Given the description of an element on the screen output the (x, y) to click on. 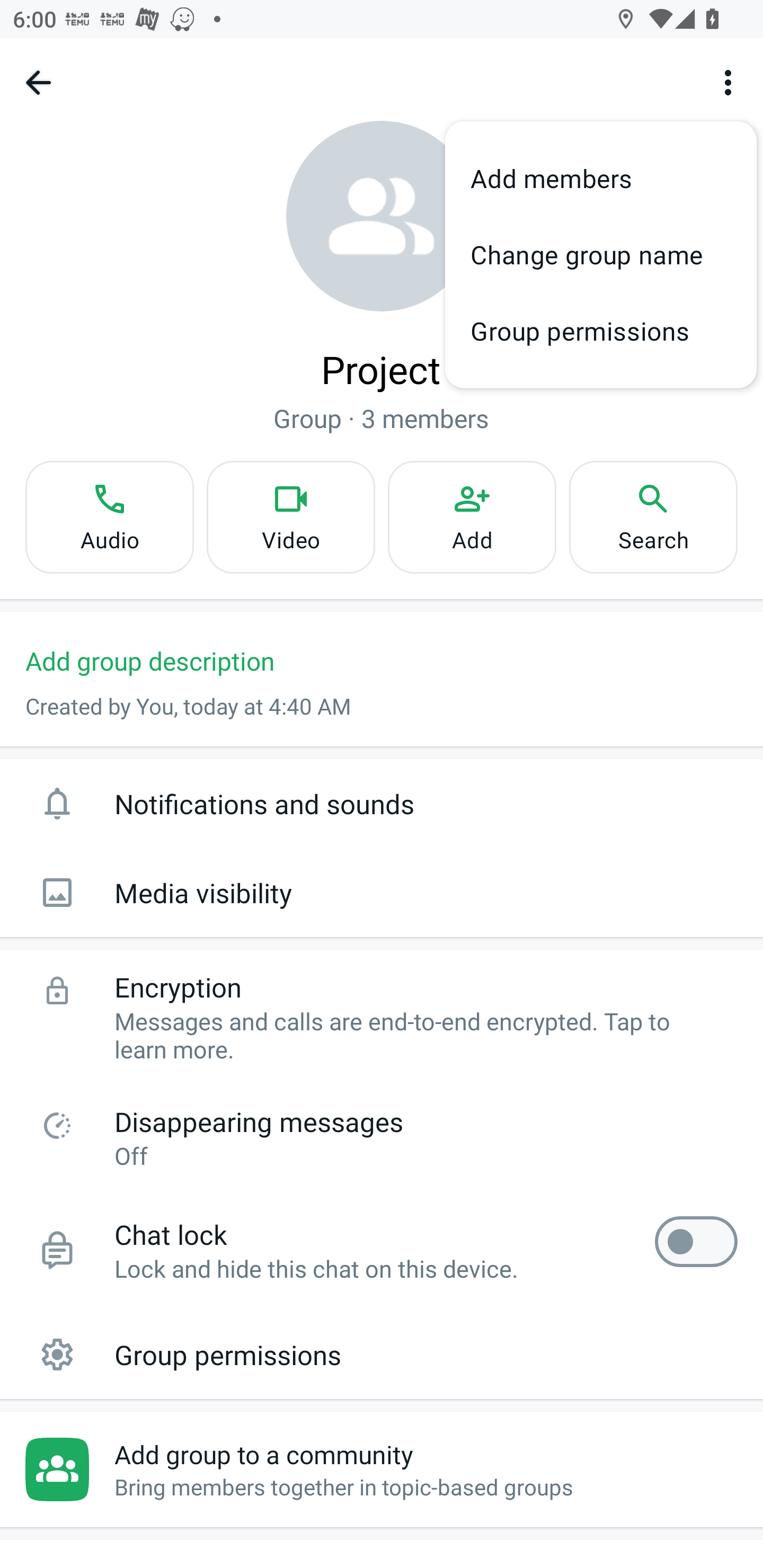
Add members (600, 178)
Change group name (600, 254)
Group permissions (600, 330)
